Given the description of an element on the screen output the (x, y) to click on. 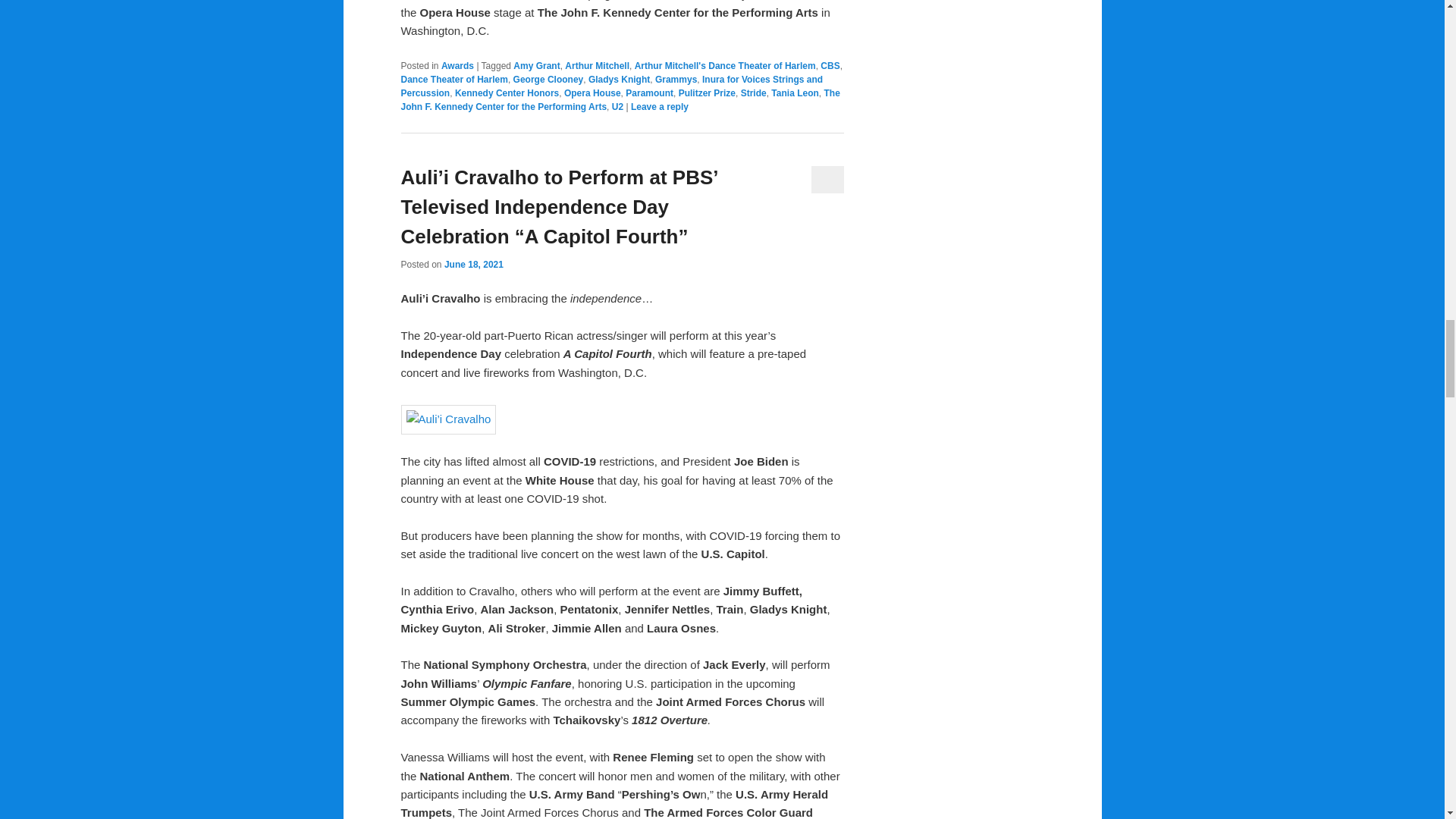
12:15 am (473, 264)
Amy Grant (536, 65)
Awards (457, 65)
